Given the description of an element on the screen output the (x, y) to click on. 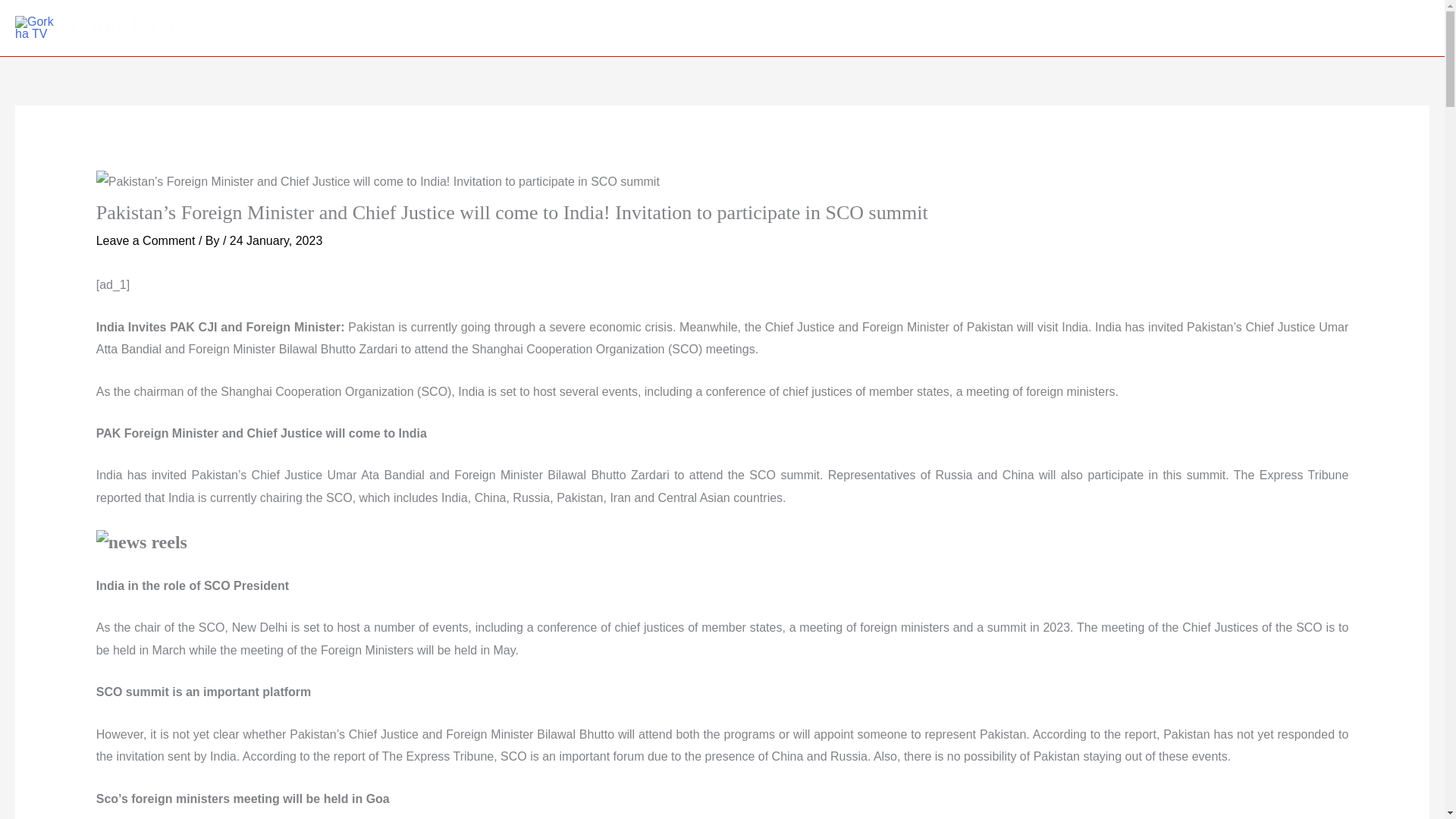
Business (1027, 27)
news reels (141, 542)
Gorkha TV (134, 27)
Education (1106, 27)
Leave a Comment (145, 240)
Home (960, 27)
Technology (1352, 27)
Entertainment (1195, 27)
Sports (1277, 27)
